Given the description of an element on the screen output the (x, y) to click on. 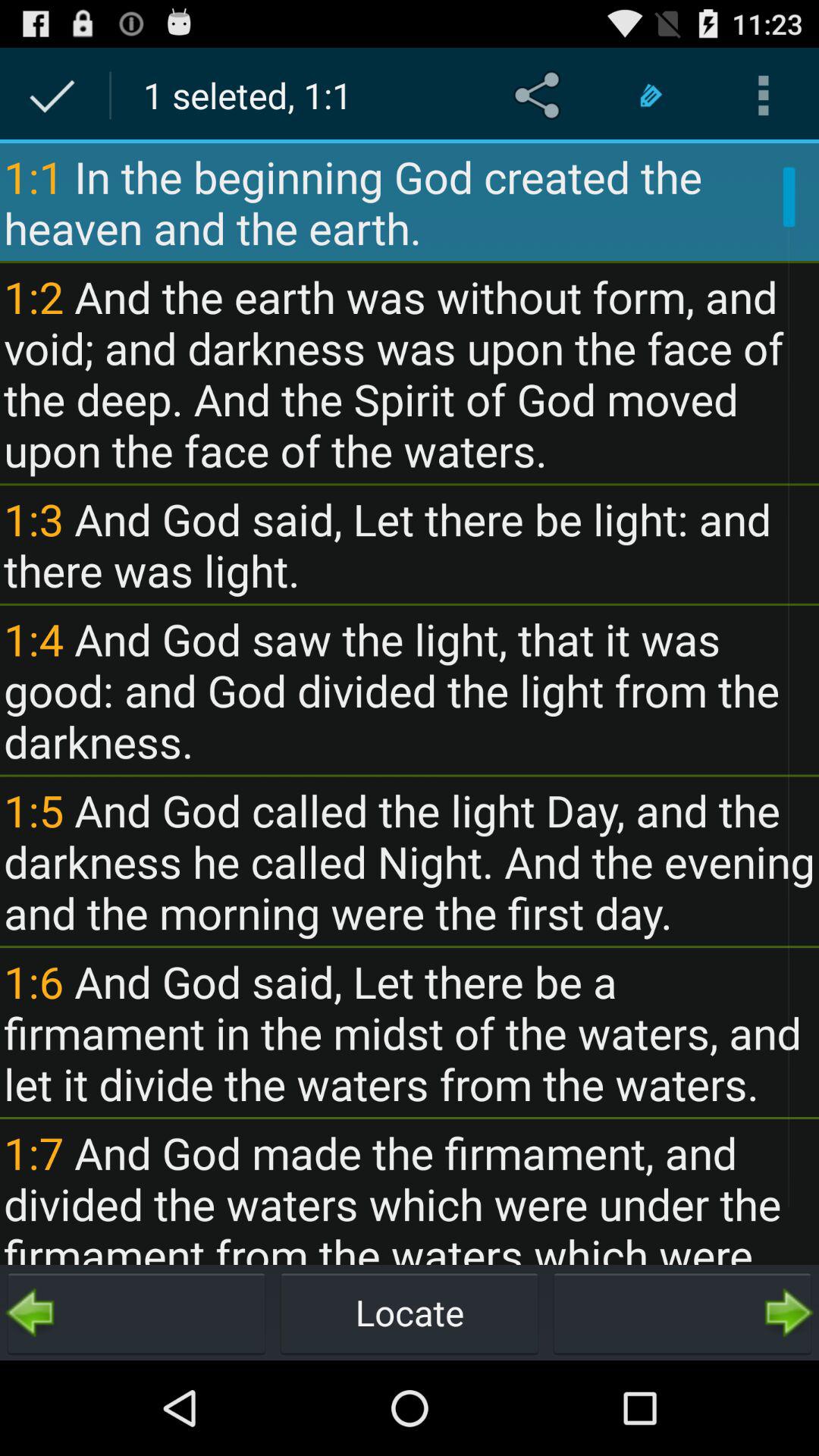
open the icon next to locate button (682, 1312)
